Given the description of an element on the screen output the (x, y) to click on. 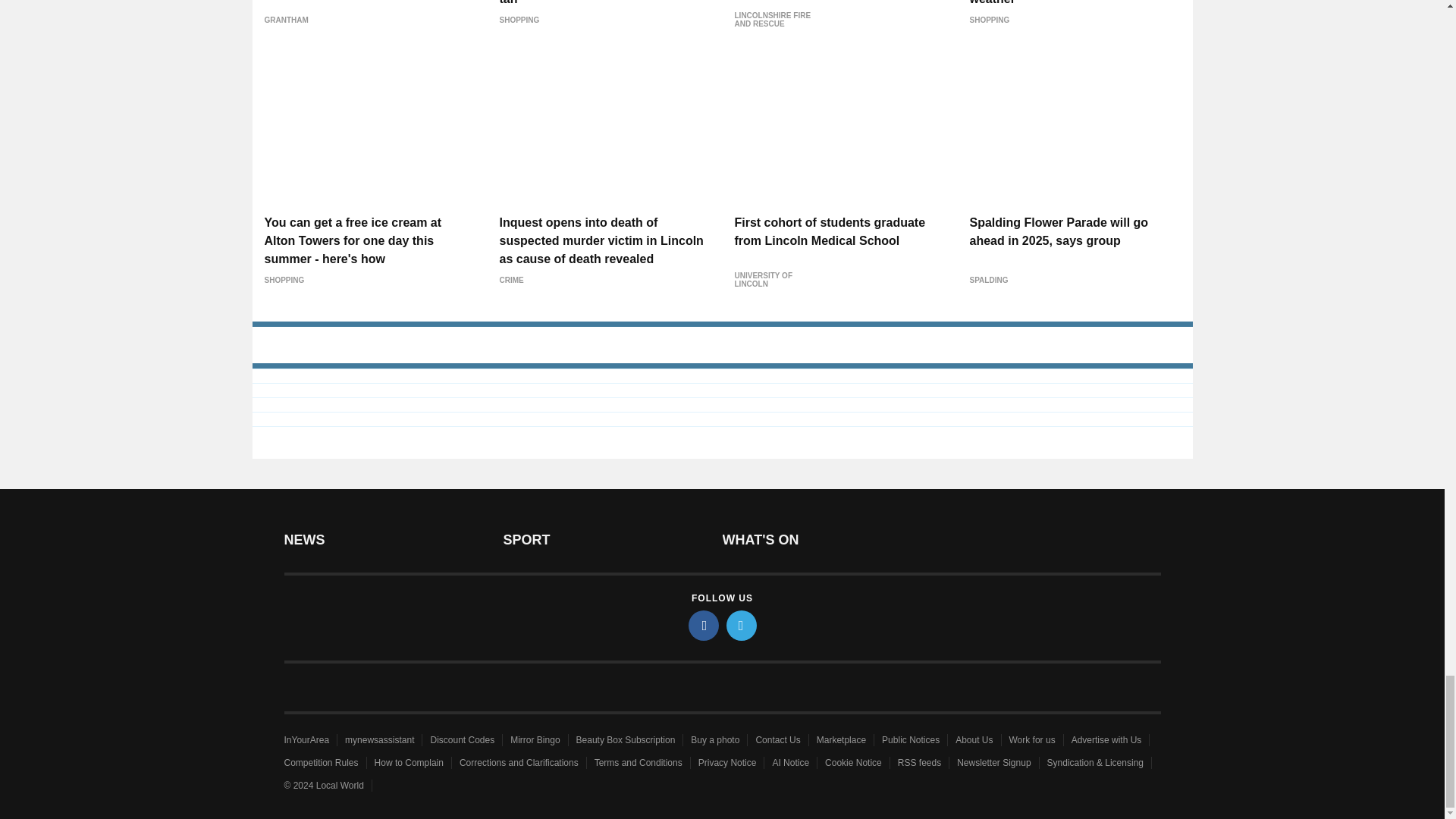
facebook (703, 625)
twitter (741, 625)
